Given the description of an element on the screen output the (x, y) to click on. 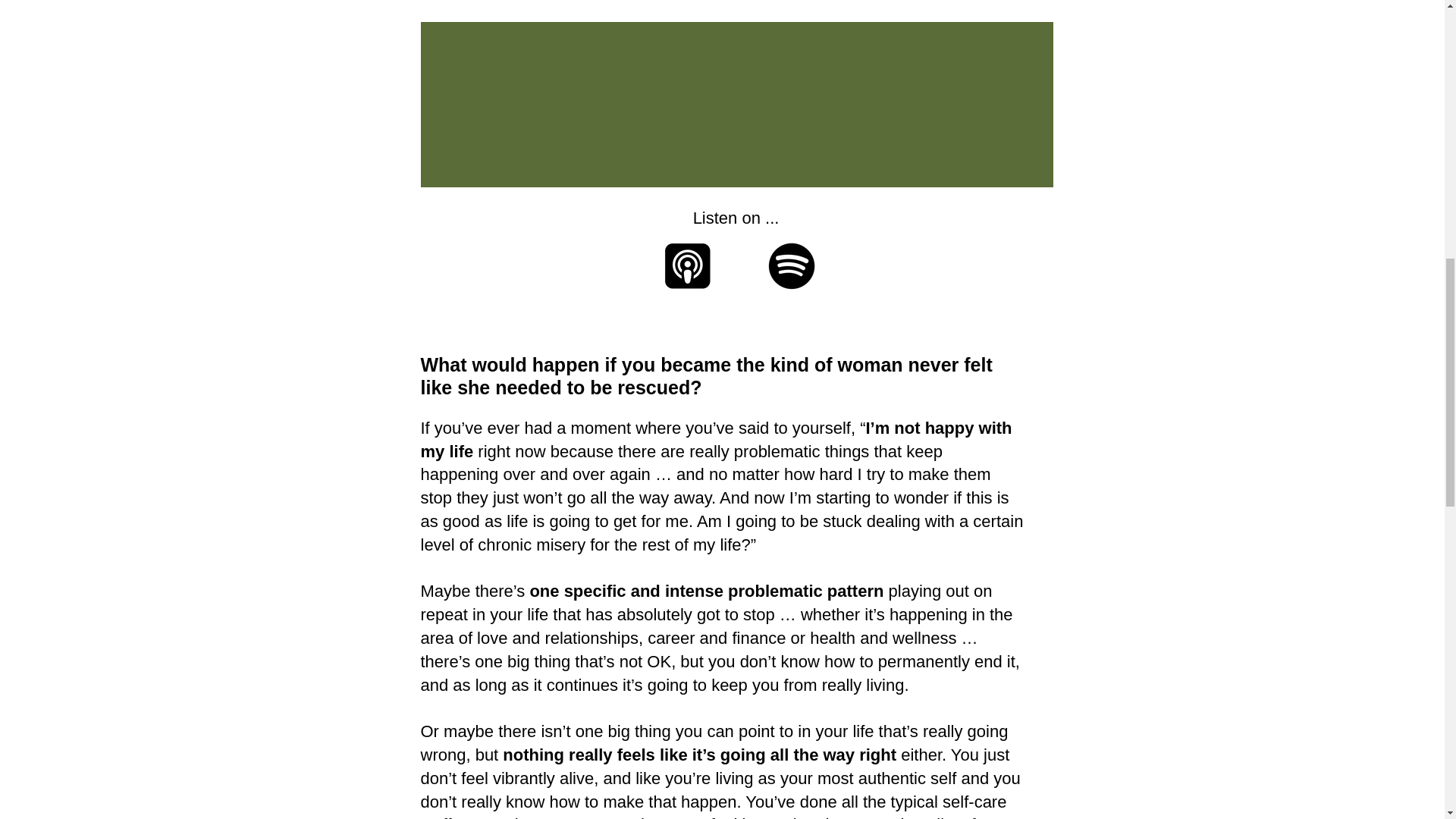
Apple.png (687, 265)
Spotify.png (790, 265)
